Given the description of an element on the screen output the (x, y) to click on. 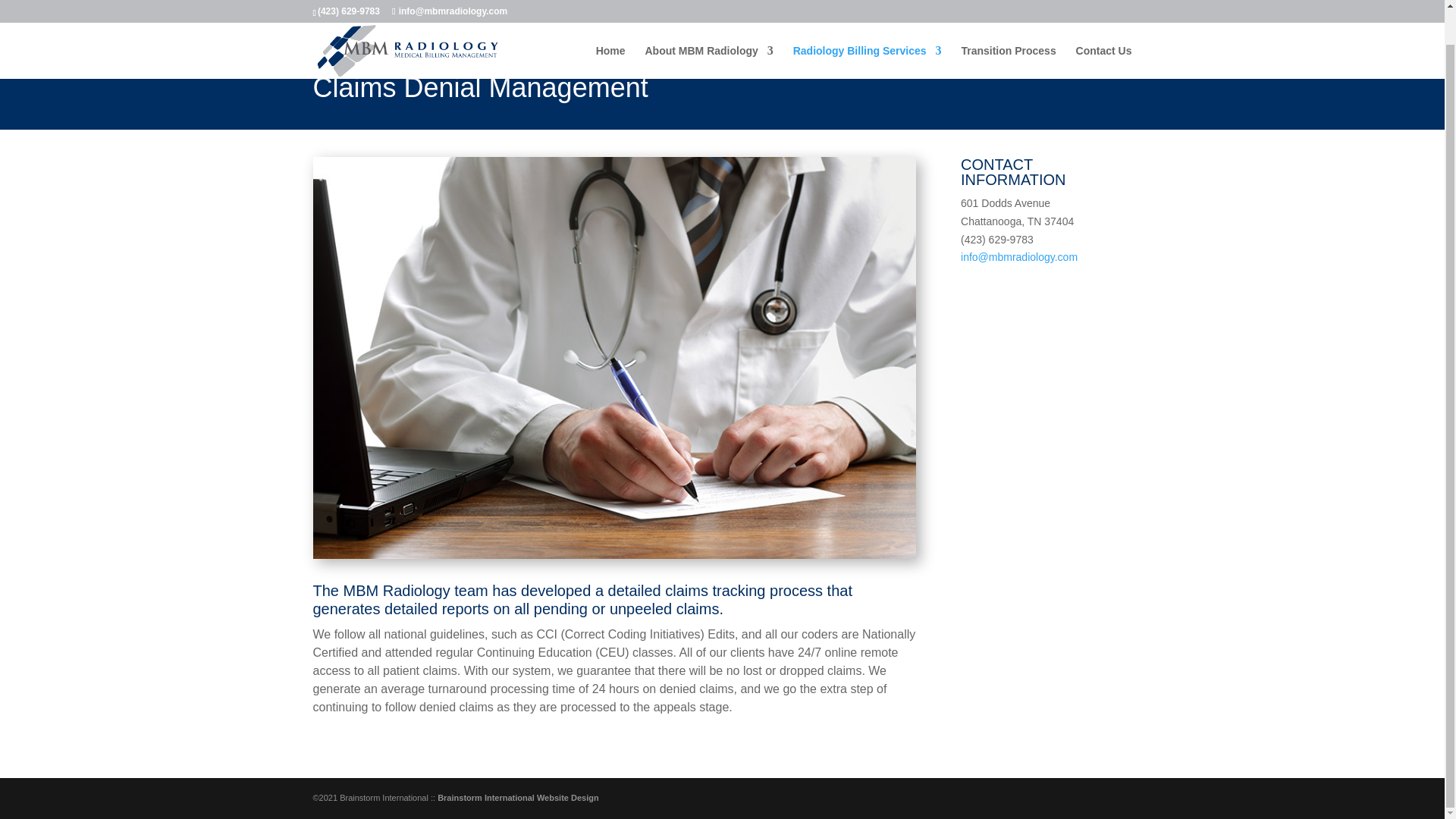
Transition Process (1007, 26)
Brainstorm International Website Design (518, 797)
About MBM Radiology (709, 26)
Contact Us (1103, 26)
Radiology Billing Services (867, 26)
